Given the description of an element on the screen output the (x, y) to click on. 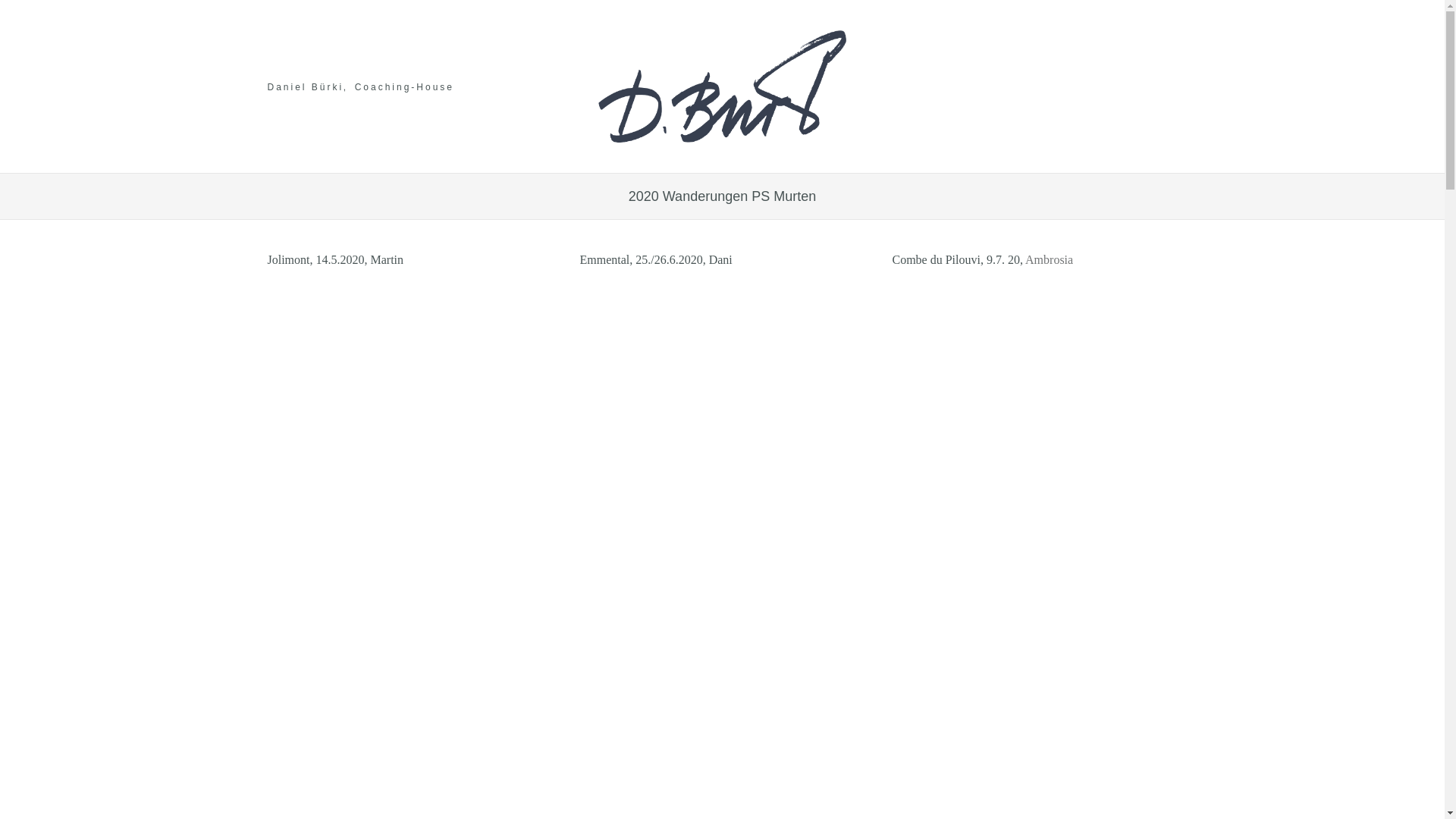
logo Element type: hover (722, 86)
